Given the description of an element on the screen output the (x, y) to click on. 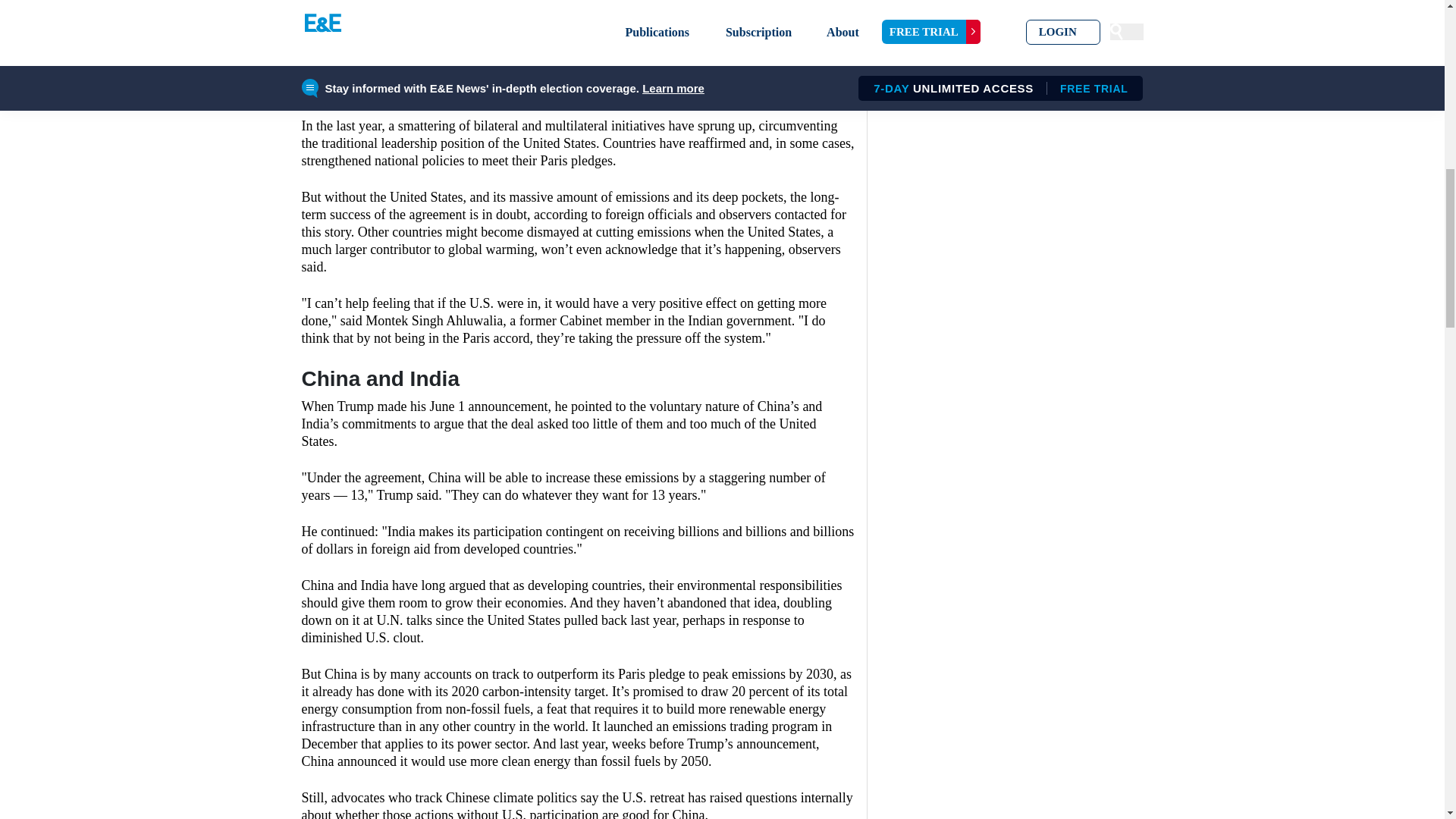
3rd party ad content (577, 40)
